Given the description of an element on the screen output the (x, y) to click on. 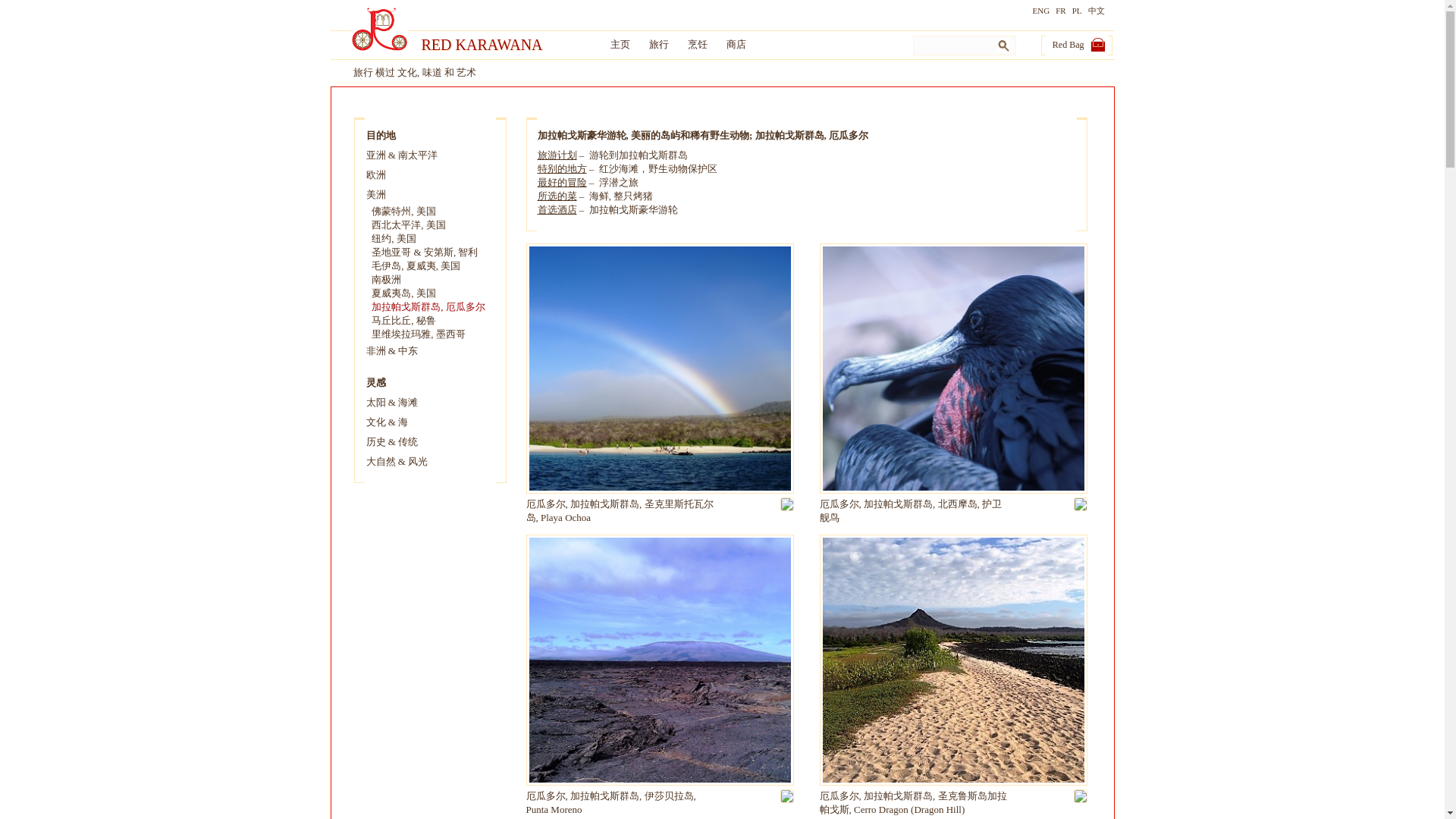
PL (1073, 10)
ENG (1037, 10)
Search (1002, 45)
Red Bag (1073, 44)
Red Karawana (499, 44)
Search (1002, 45)
RED KARAWANA (499, 44)
FR (1057, 10)
